Given the description of an element on the screen output the (x, y) to click on. 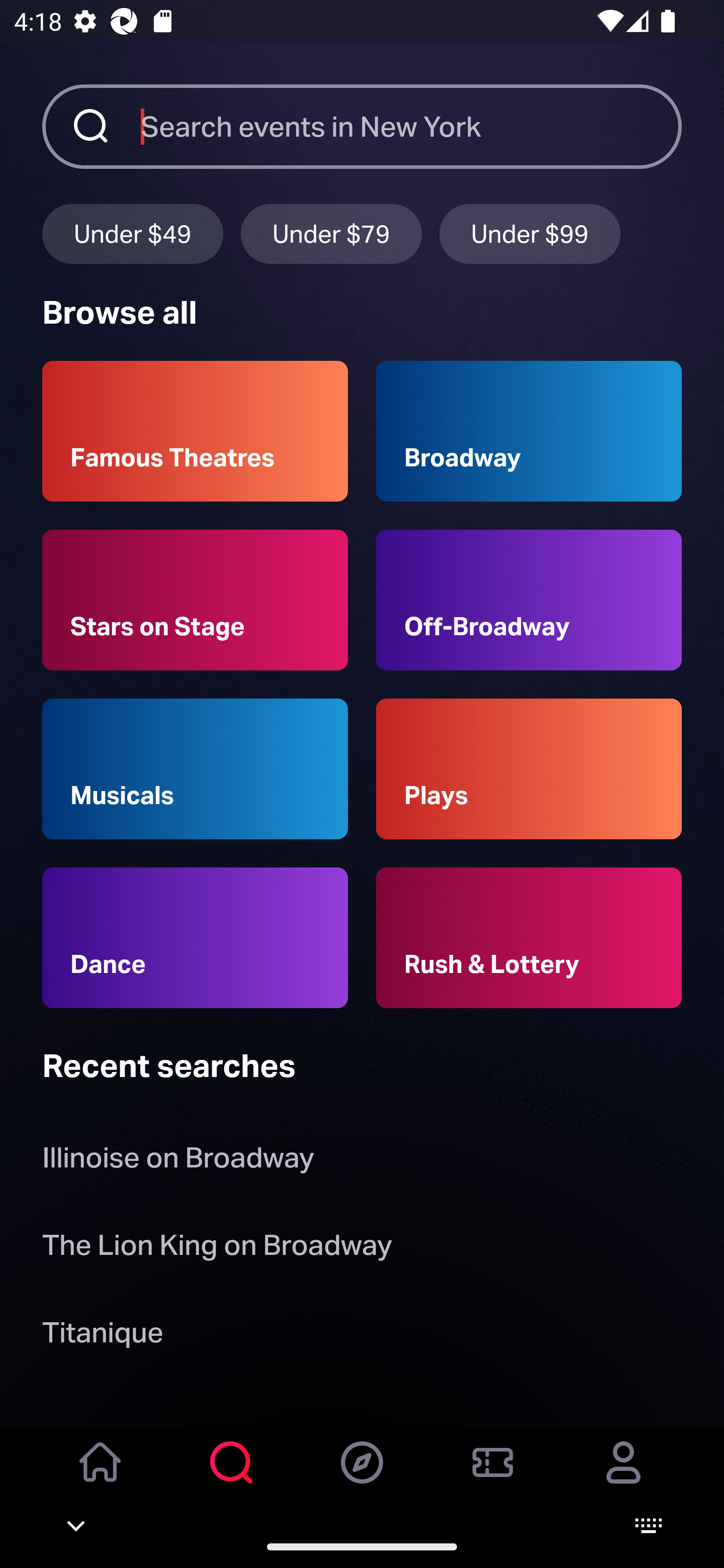
Search events in New York (411, 126)
Under $49 (131, 233)
Under $79 (331, 233)
Under $99 (529, 233)
Famous Theatres (194, 430)
Broadway (528, 430)
Stars on Stage (194, 600)
Off-Broadway (528, 600)
Musicals (194, 768)
Plays (528, 768)
Dance (194, 937)
Rush & Lottery (528, 937)
Illinoise on Broadway (177, 1161)
The Lion King on Broadway (216, 1248)
Titanique (102, 1335)
Home (100, 1475)
Discover (361, 1475)
Orders (492, 1475)
Account (623, 1475)
